Given the description of an element on the screen output the (x, y) to click on. 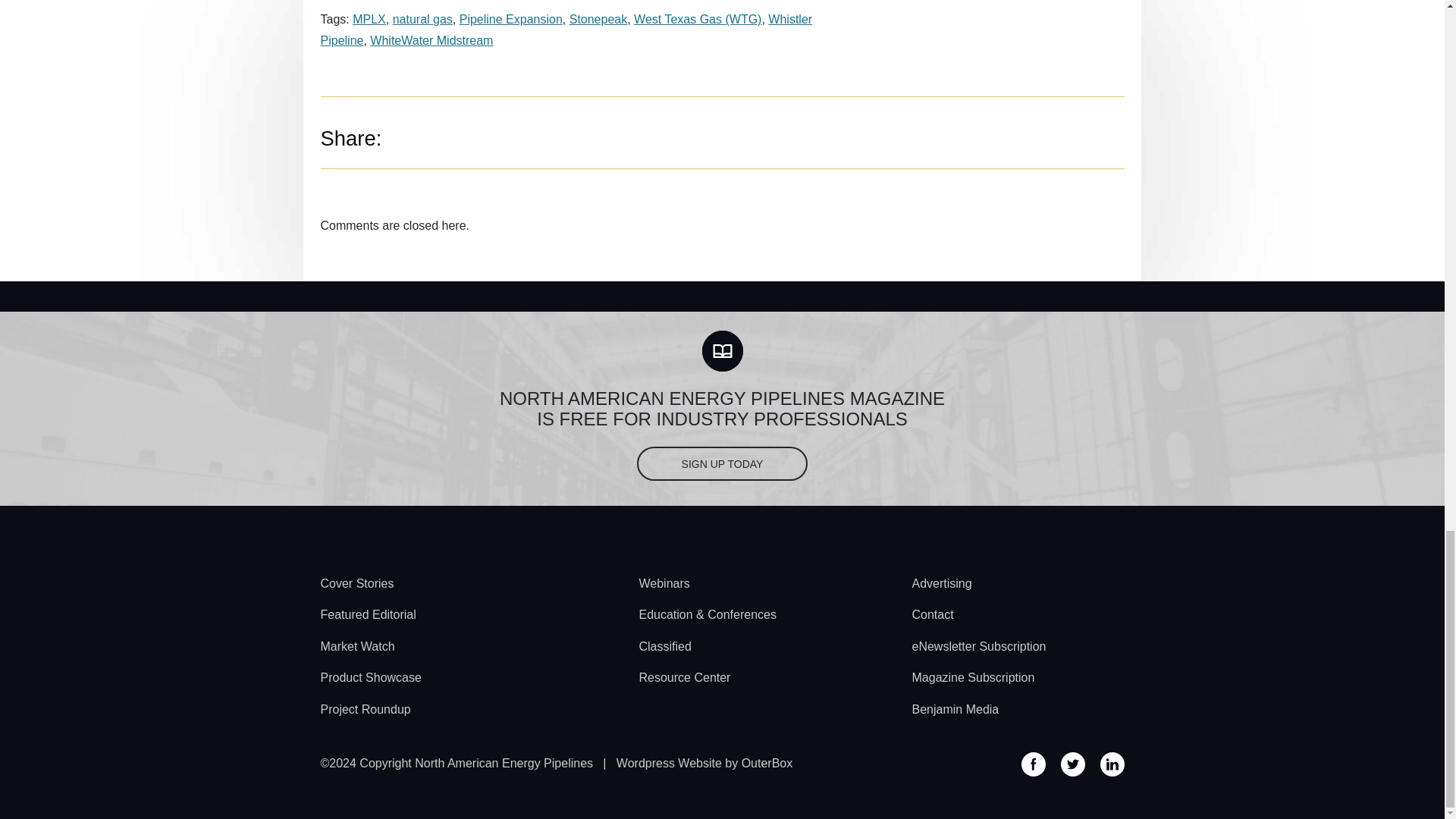
Outerbox (703, 762)
MPLX (368, 19)
Stonepeak (598, 19)
Whistler Pipeline (566, 29)
WhiteWater Midstream (431, 40)
natural gas (422, 19)
Pipeline Expansion (511, 19)
